Given the description of an element on the screen output the (x, y) to click on. 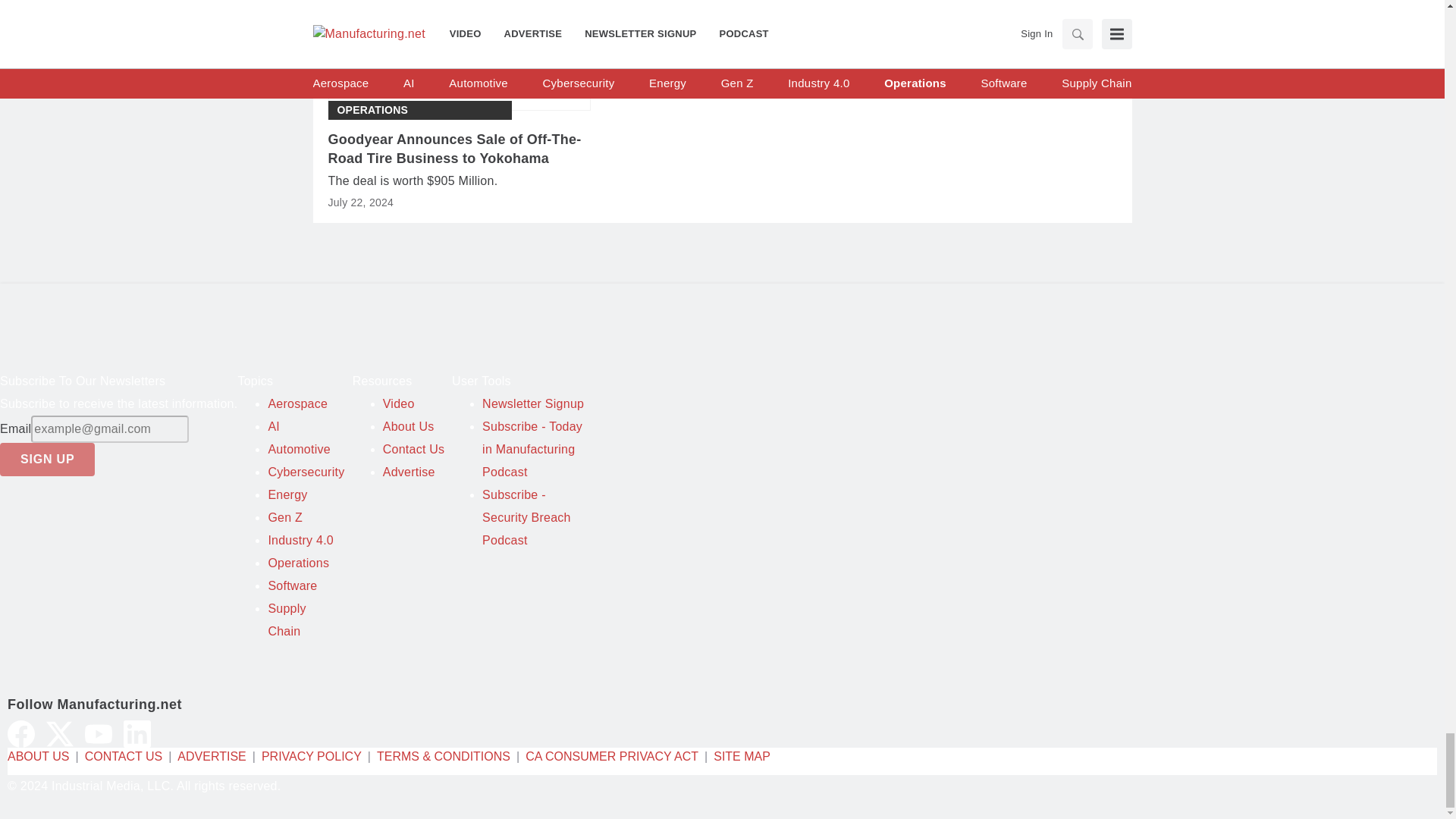
LinkedIn icon (137, 733)
Twitter X icon (60, 733)
Facebook icon (20, 733)
YouTube icon (98, 733)
